Given the description of an element on the screen output the (x, y) to click on. 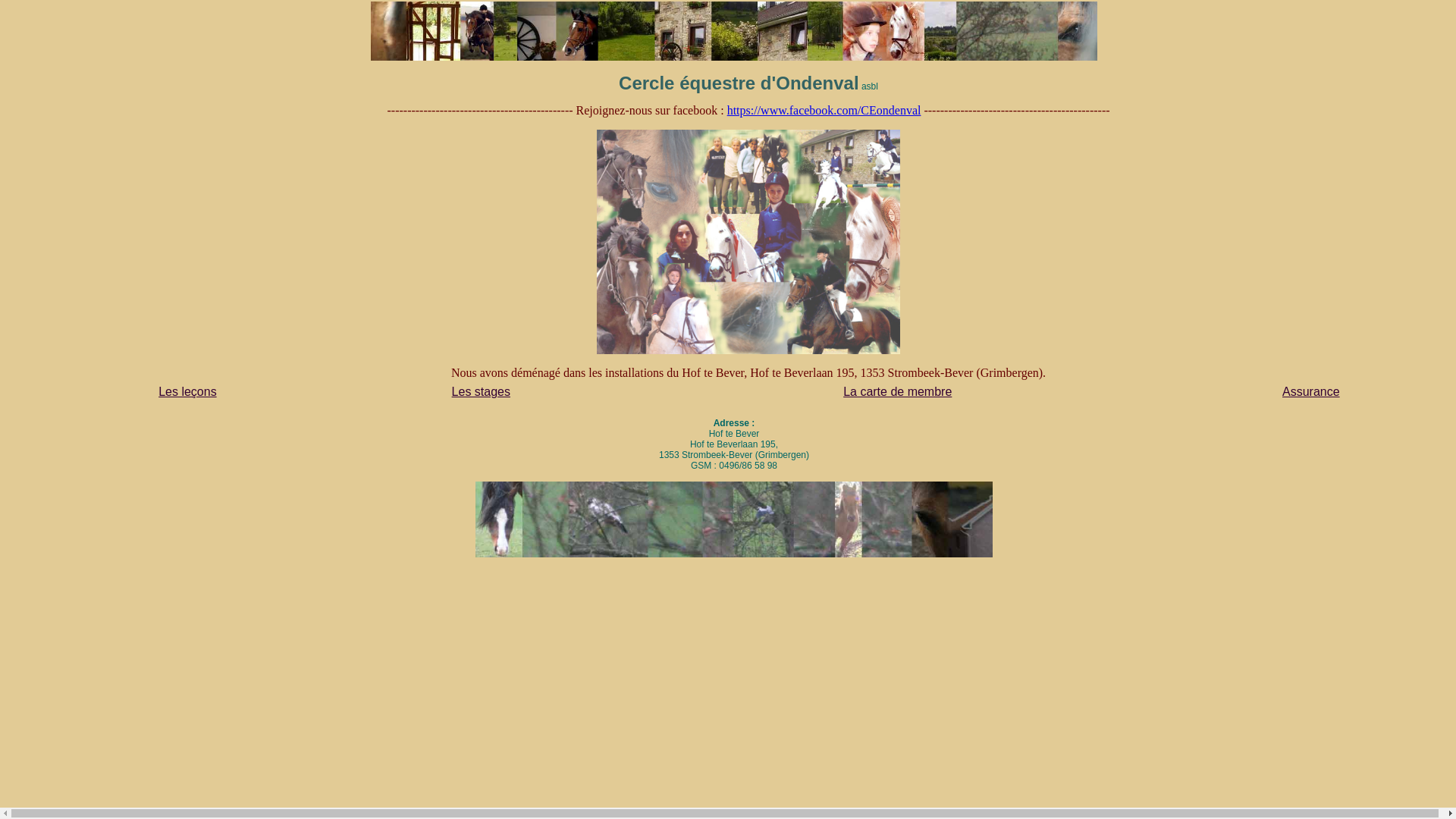
Assurance Element type: text (1310, 391)
La carte de membre Element type: text (897, 391)
Les stages Element type: text (480, 391)
https://www.facebook.com/CEondenval Element type: text (824, 109)
